Given the description of an element on the screen output the (x, y) to click on. 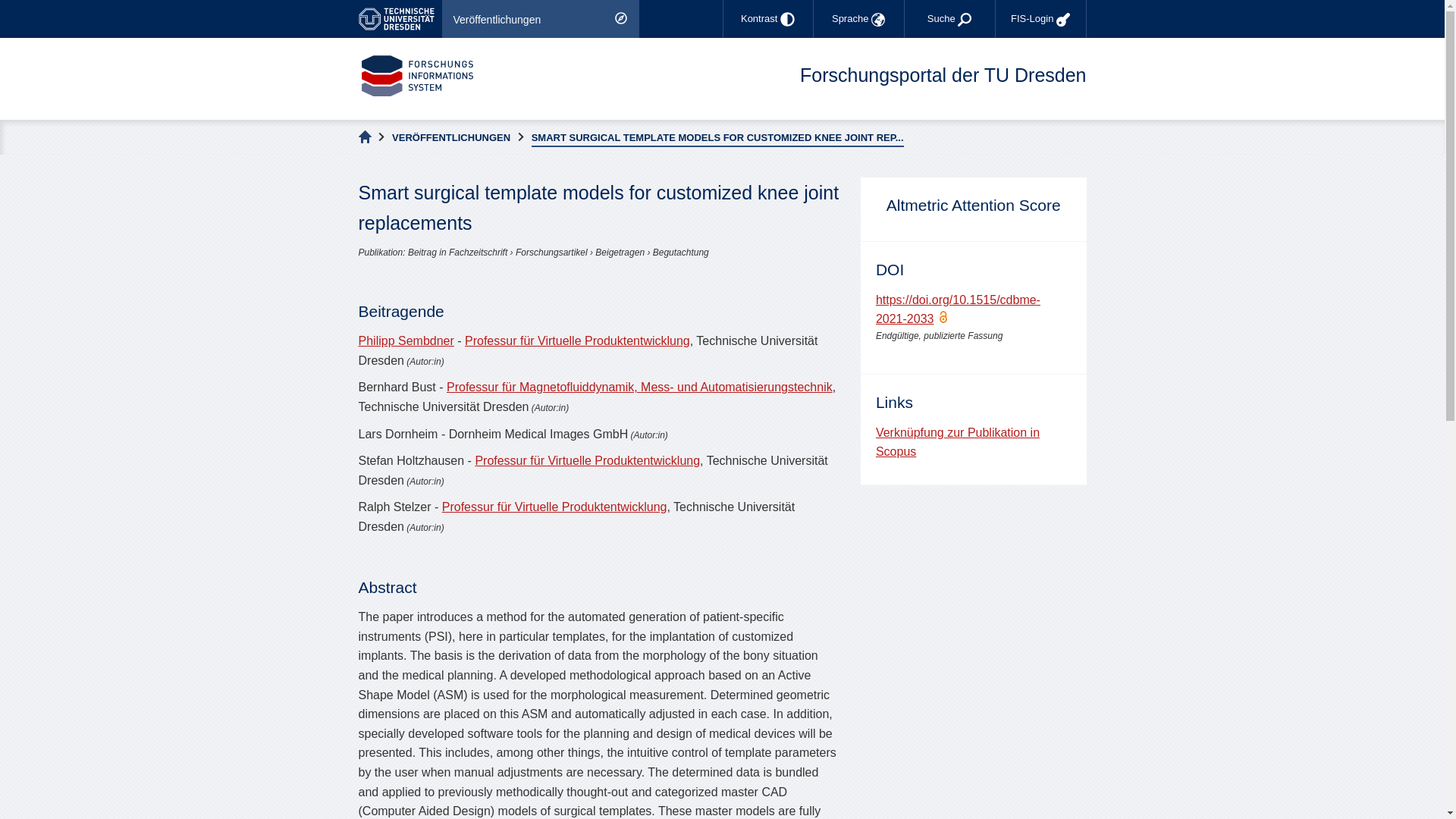
Philipp Sembdner (405, 340)
Suche (949, 18)
Kontrast (767, 18)
FIS-Login (1040, 18)
, Externer Link (399, 18)
Sprache (858, 18)
Sprachauswahl umschalten (858, 18)
Globale Suche umschalten (949, 18)
